Given the description of an element on the screen output the (x, y) to click on. 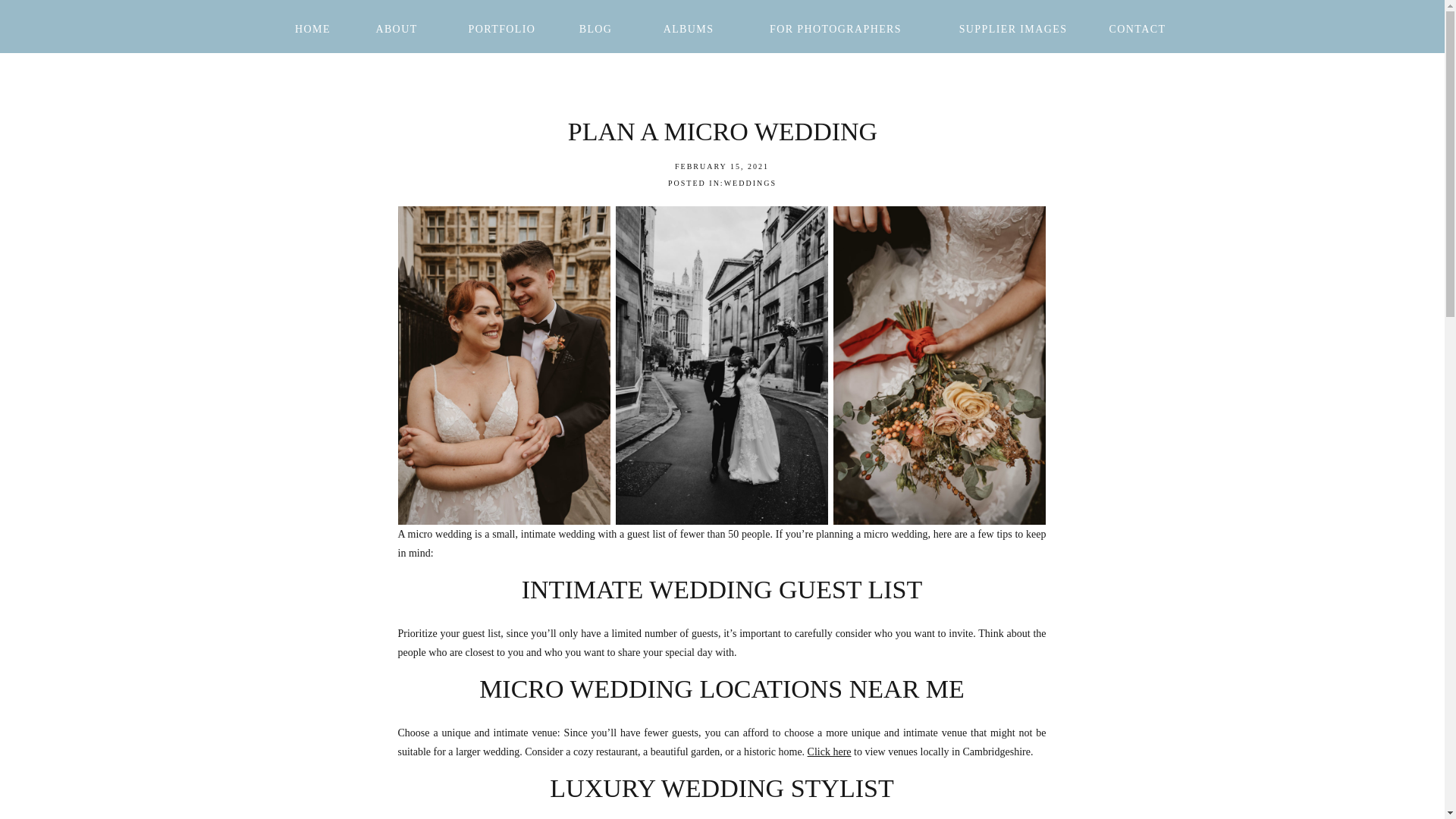
HOME (312, 26)
SUPPLIER IMAGES (1012, 26)
FOR PHOTOGRAPHERS (835, 26)
BLOG (595, 26)
Click here (829, 751)
ABOUT (396, 26)
PORTFOLIO (501, 26)
ALBUMS (689, 26)
CONTACT (1137, 26)
WEDDINGS (749, 183)
